Given the description of an element on the screen output the (x, y) to click on. 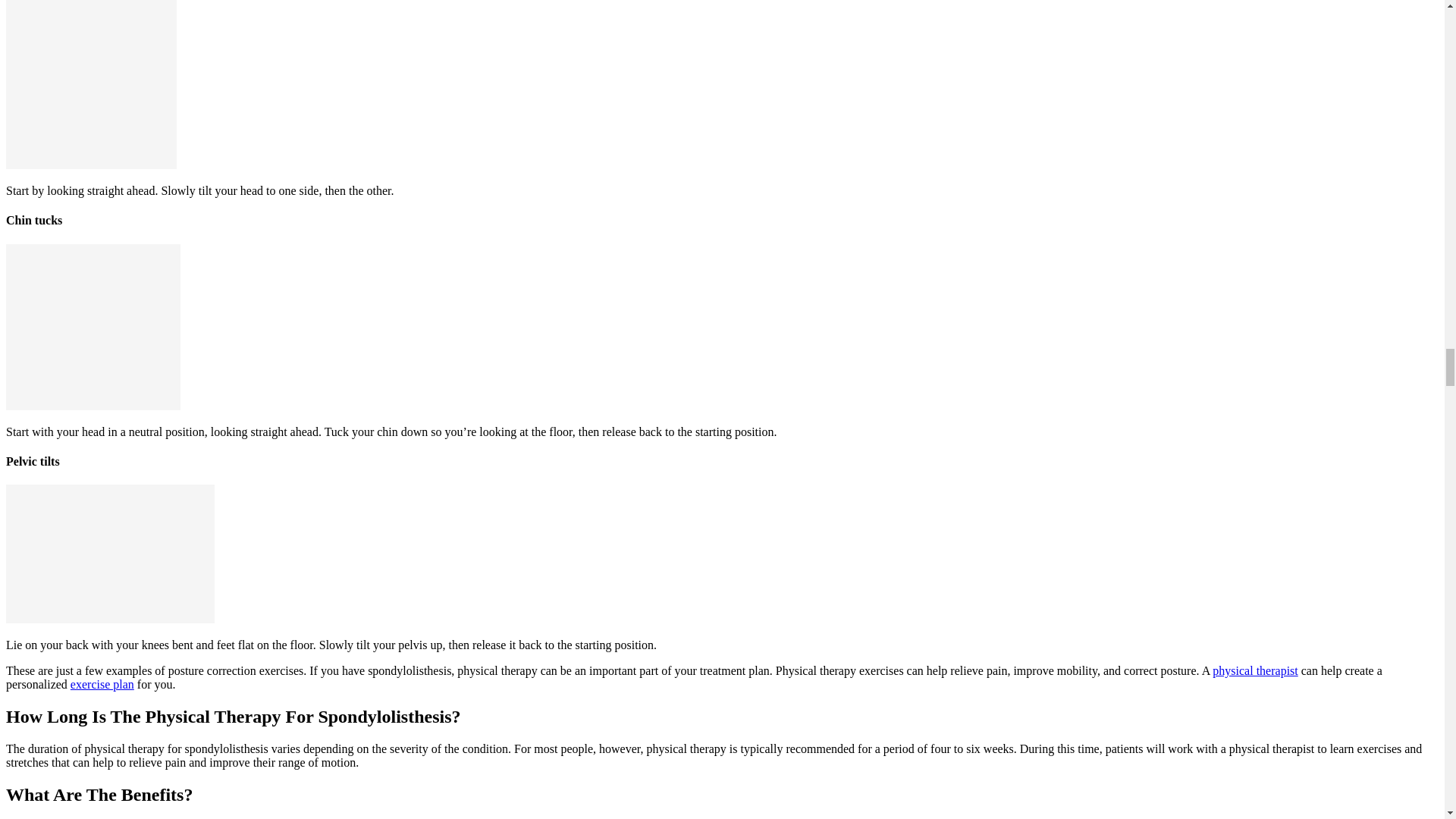
exercise plan (101, 684)
Physical Therapist (1254, 670)
